Given the description of an element on the screen output the (x, y) to click on. 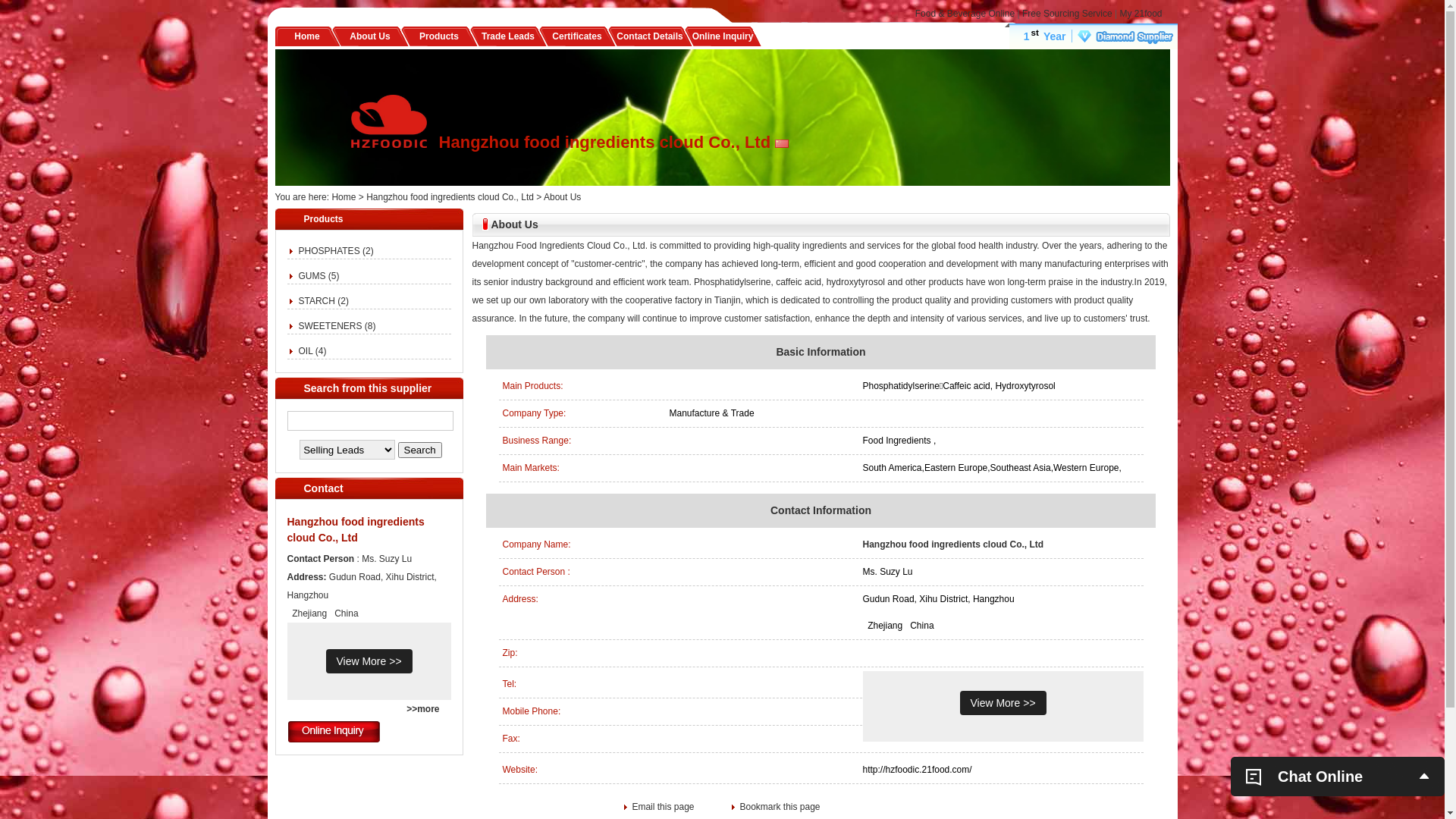
Bookmark this page Element type: text (775, 806)
Products Element type: text (438, 36)
GUMS (5) Element type: text (318, 275)
Products Element type: text (322, 218)
Free Sourcing Service Element type: text (1067, 13)
OIL (4) Element type: text (312, 350)
Certificates Element type: text (576, 36)
http://hzfoodic.21food.com/ Element type: text (917, 769)
Online Inquiry Element type: text (722, 36)
Food & Beverage Online Element type: text (964, 13)
My 21food Element type: text (1140, 13)
1stYear Element type: text (1090, 36)
Trade Leads Element type: text (507, 36)
Contact Element type: text (322, 488)
Home Element type: text (306, 36)
View More >> Element type: text (1003, 702)
PHOSPHATES (2) Element type: text (335, 250)
>>more Element type: text (422, 708)
About Us Element type: text (369, 36)
SWEETENERS (8) Element type: text (337, 325)
STARCH (2) Element type: text (323, 300)
Search from this supplier Element type: text (367, 388)
Contact Details Element type: text (649, 36)
Hangzhou food ingredients cloud Co., Ltd Element type: text (953, 544)
Email this page Element type: text (677, 806)
Hangzhou food ingredients cloud Co., Ltd Element type: text (449, 196)
Home Element type: text (343, 196)
View More >> Element type: text (369, 661)
Hangzhou food ingredients cloud Co., Ltd Element type: text (354, 529)
Search Element type: text (420, 449)
